Given the description of an element on the screen output the (x, y) to click on. 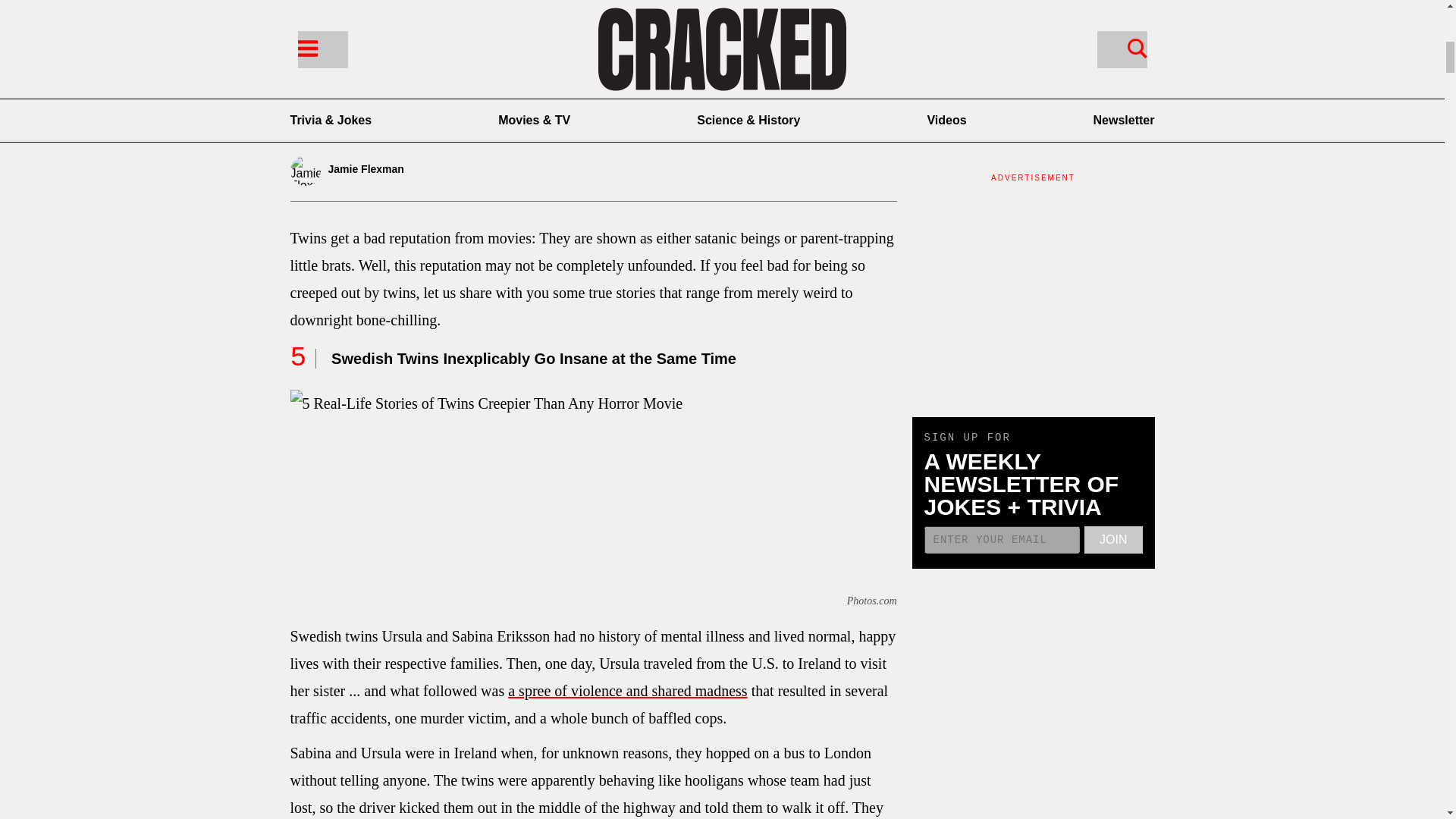
a spree of violence and shared madness (627, 690)
Jamie Flexman (387, 170)
